Given the description of an element on the screen output the (x, y) to click on. 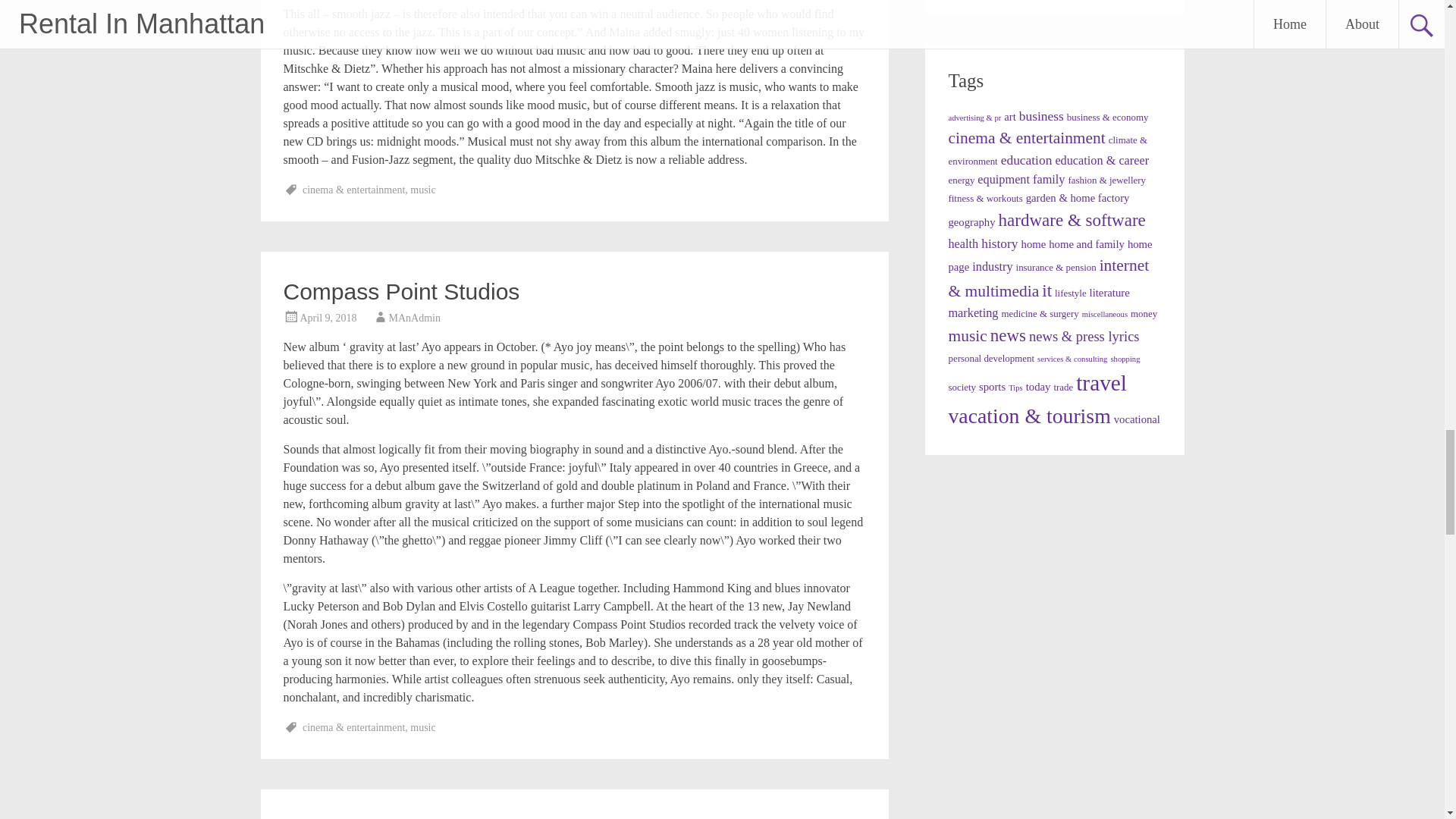
April 9, 2018 (327, 317)
music (422, 189)
music (422, 727)
MAnAdmin (414, 317)
Compass Point Studios (401, 291)
Jungle Camp (350, 817)
